Given the description of an element on the screen output the (x, y) to click on. 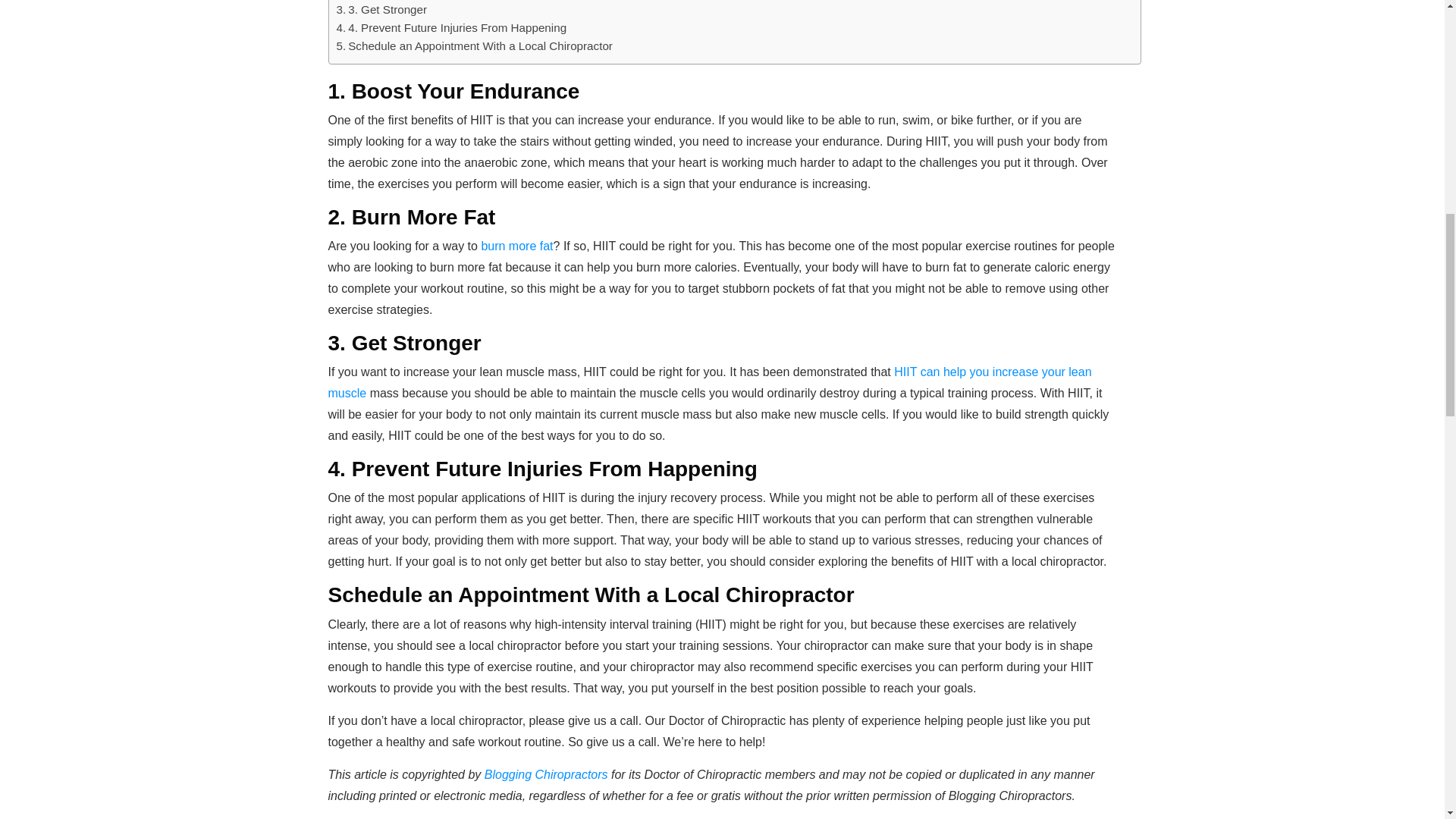
3. Get Stronger (382, 9)
4. Prevent Future Injuries From Happening (451, 27)
Schedule an Appointment With a Local Chiropractor (474, 45)
